Given the description of an element on the screen output the (x, y) to click on. 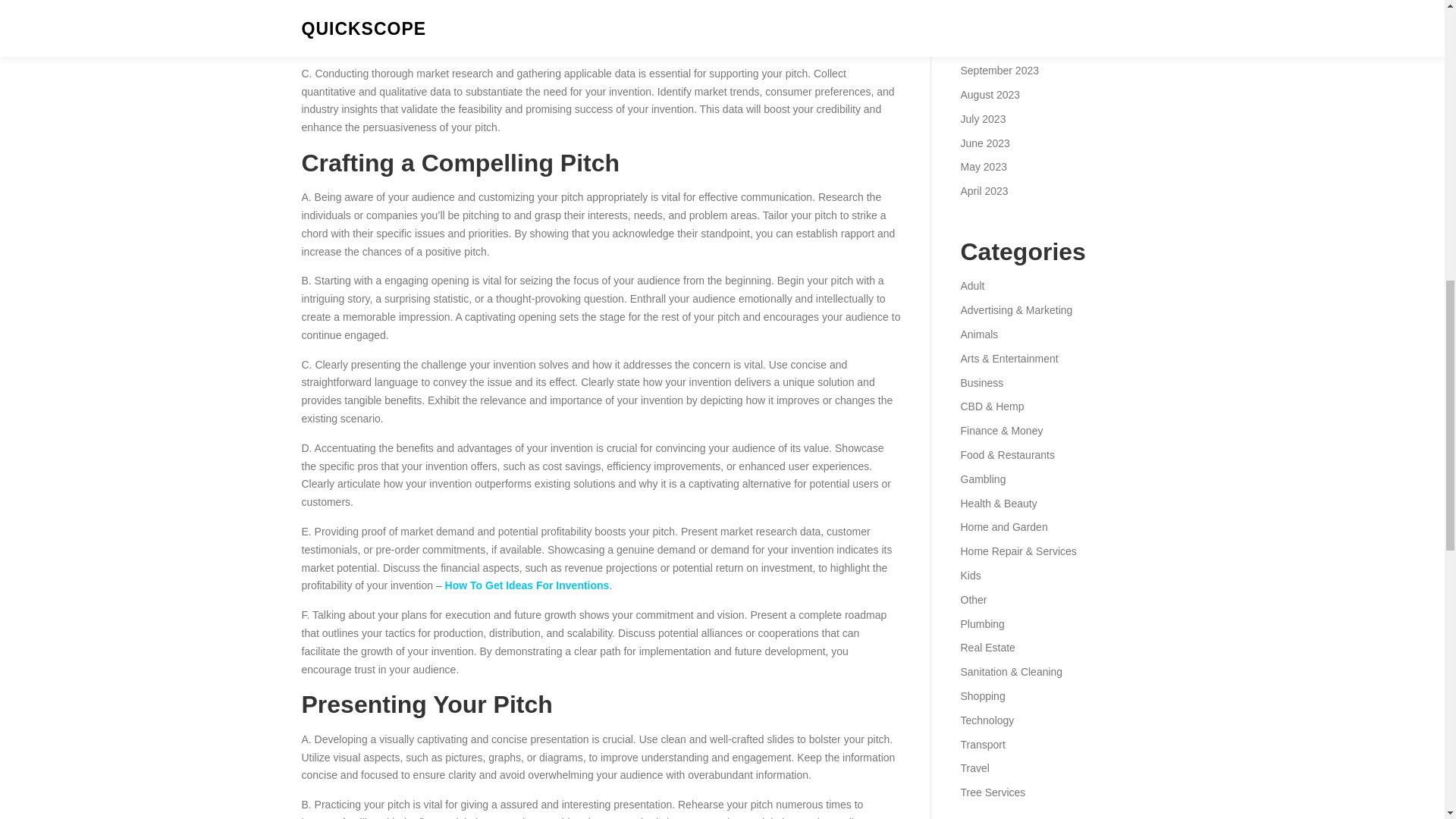
Business (981, 382)
June 2023 (984, 143)
Animals (978, 334)
Game-Changing Innovations in Basketball - InventHelp (601, 26)
September 2023 (999, 70)
How To Get Ideas For Inventions (527, 585)
Adult (971, 285)
December 2023 (997, 2)
July 2023 (982, 119)
October 2023 (992, 46)
